Given the description of an element on the screen output the (x, y) to click on. 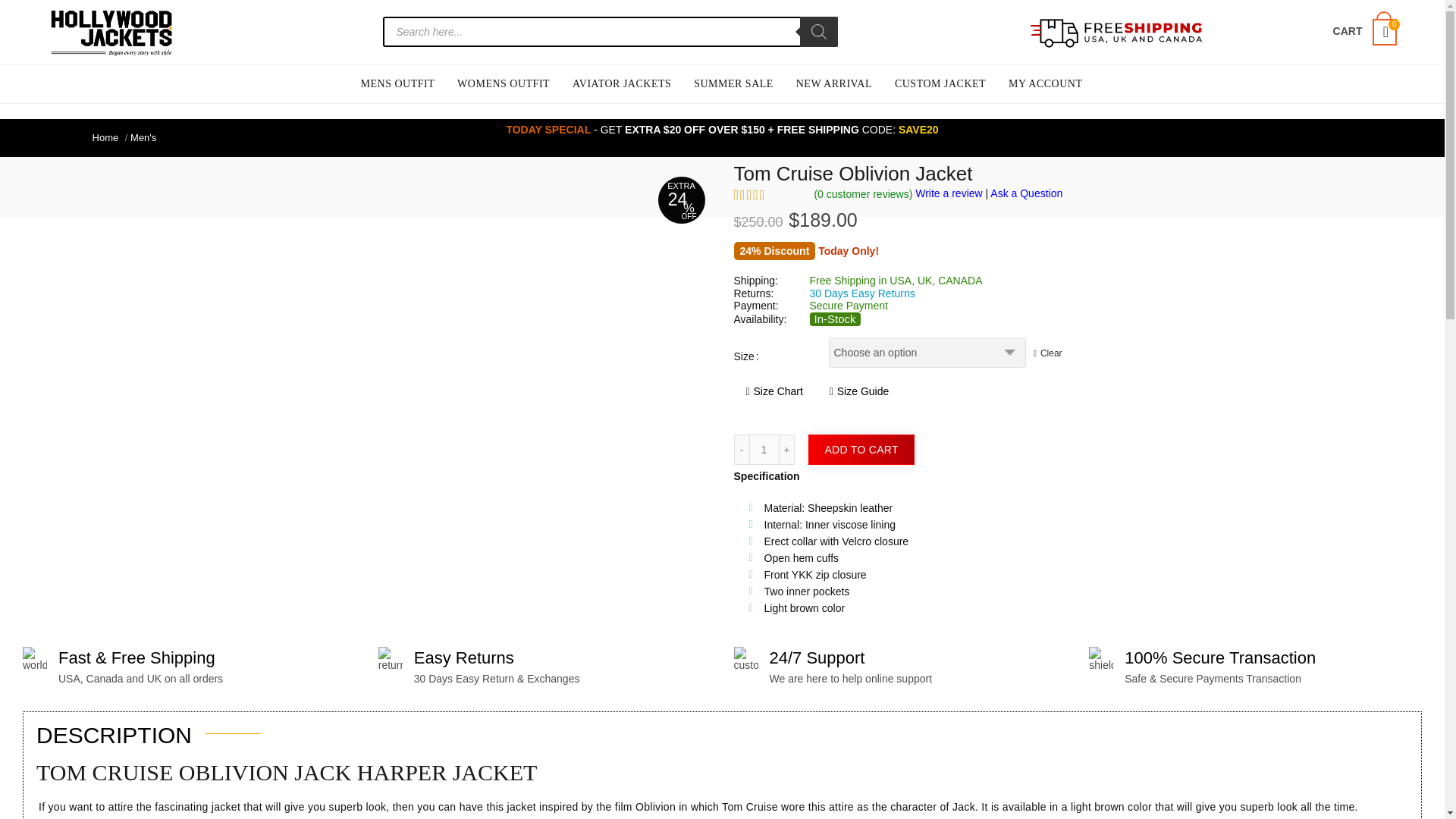
Rated 0 out of 5 (768, 194)
Qty (763, 449)
customer-support (745, 658)
1 (763, 449)
